Given the description of an element on the screen output the (x, y) to click on. 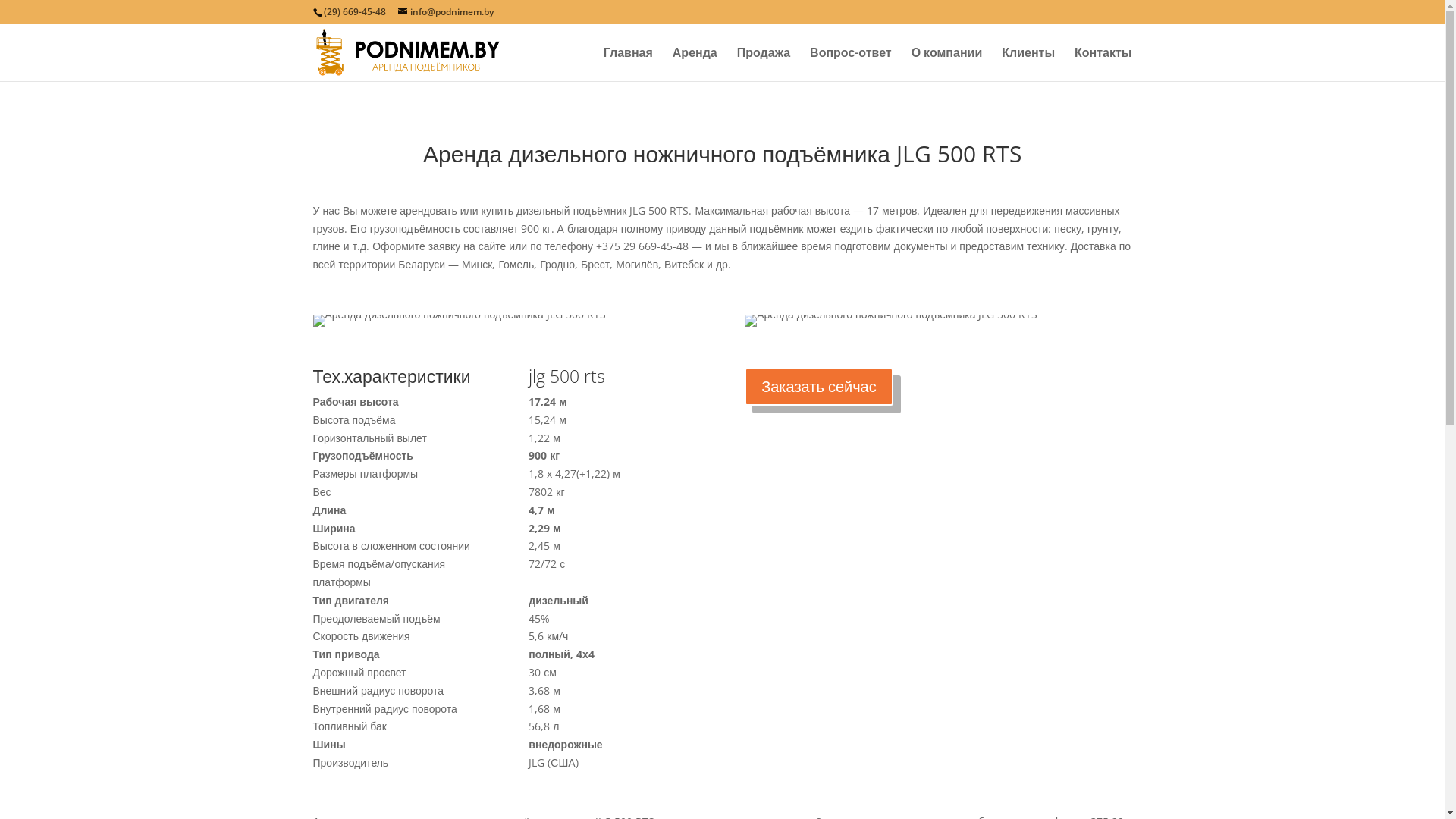
info@podnimem.by Element type: text (444, 11)
